Given the description of an element on the screen output the (x, y) to click on. 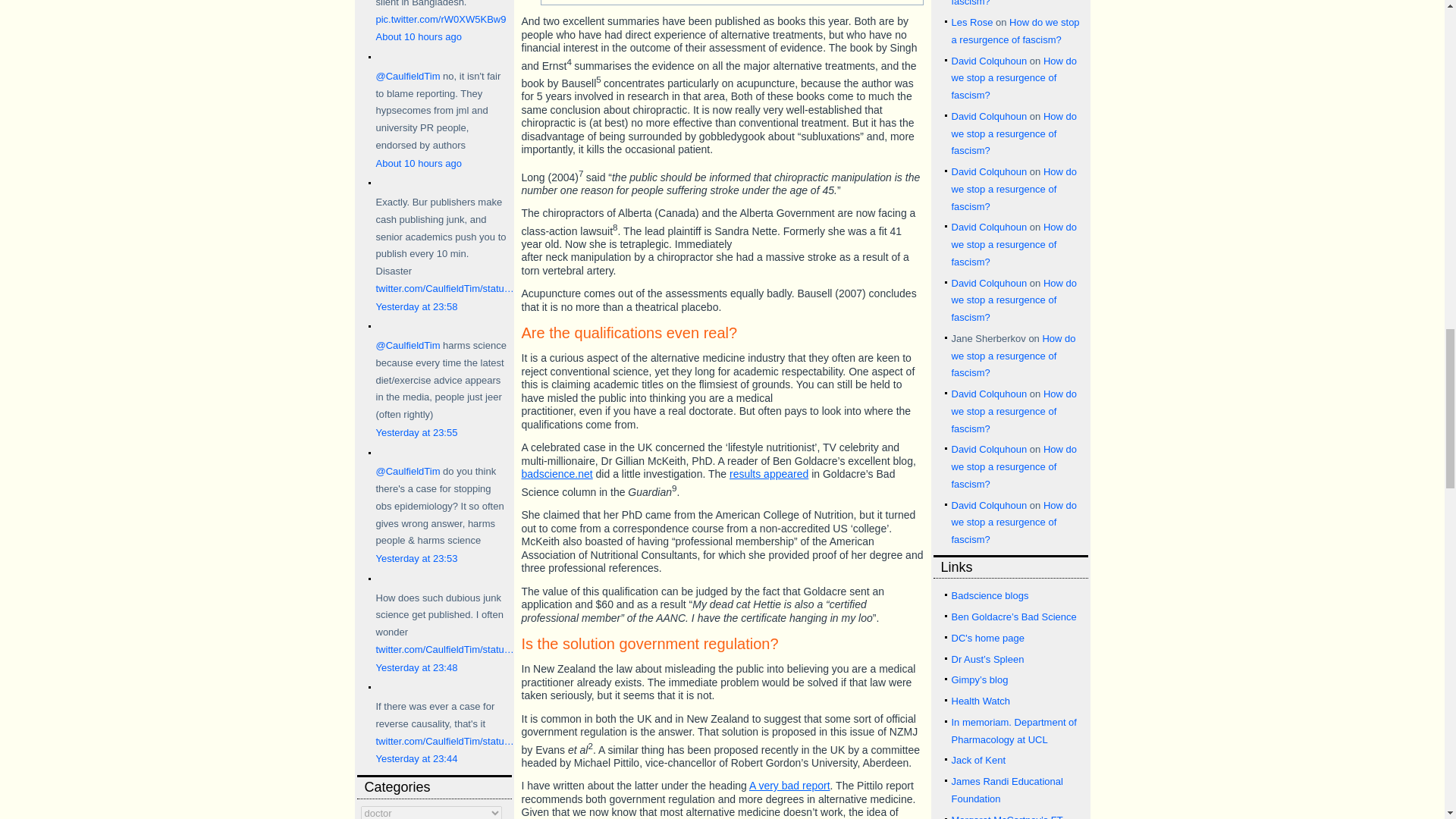
Nice site from a scientist (986, 659)
About 10 hours ago (418, 163)
About 10 hours ago (418, 36)
The leader in science communication (1012, 616)
Best summary of latest blog entries (988, 595)
